Given the description of an element on the screen output the (x, y) to click on. 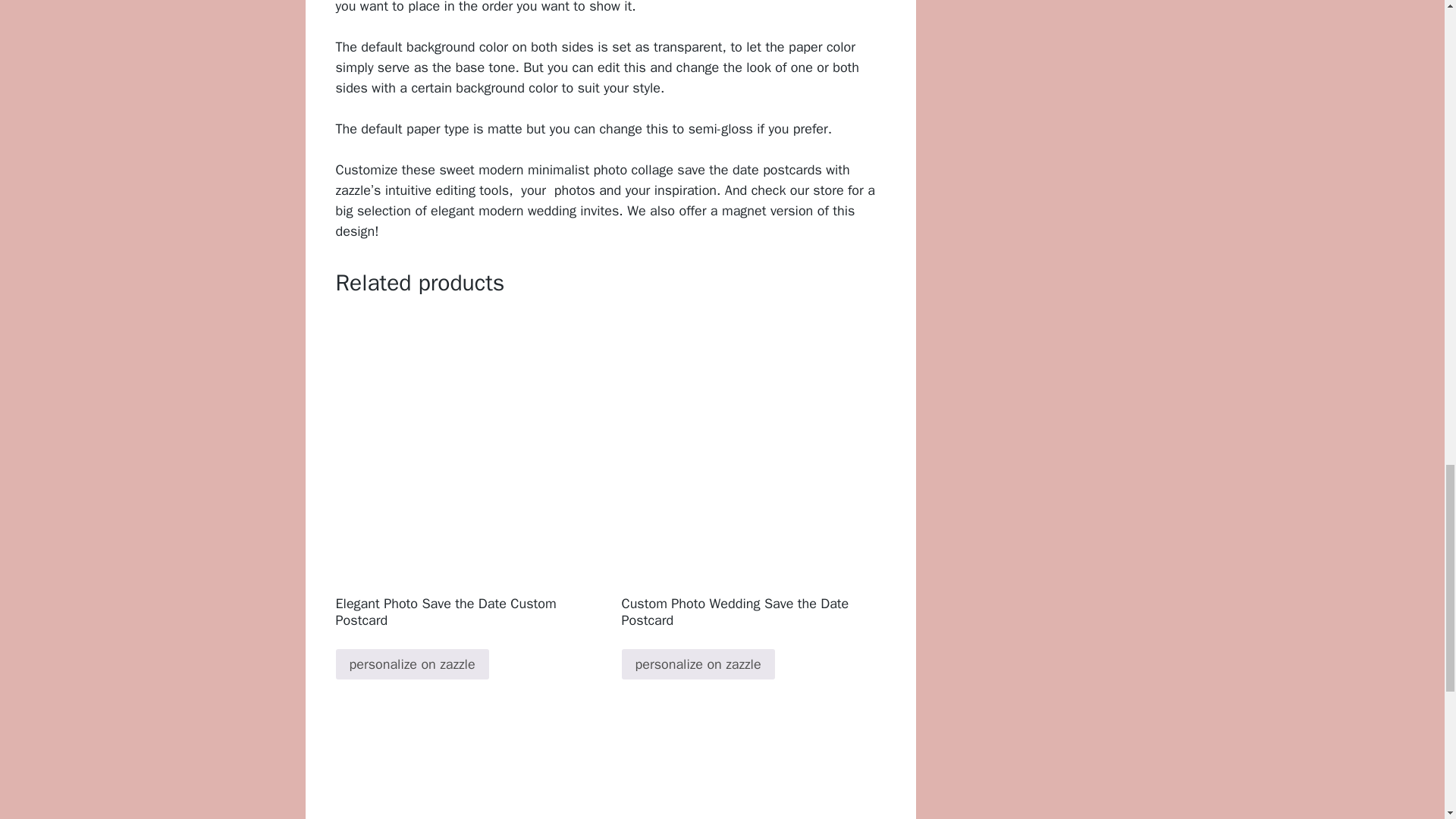
Simple Photo Save the Date Postcard (466, 769)
personalize on zazzle (410, 664)
personalize on zazzle (697, 664)
magnet (744, 210)
